Given the description of an element on the screen output the (x, y) to click on. 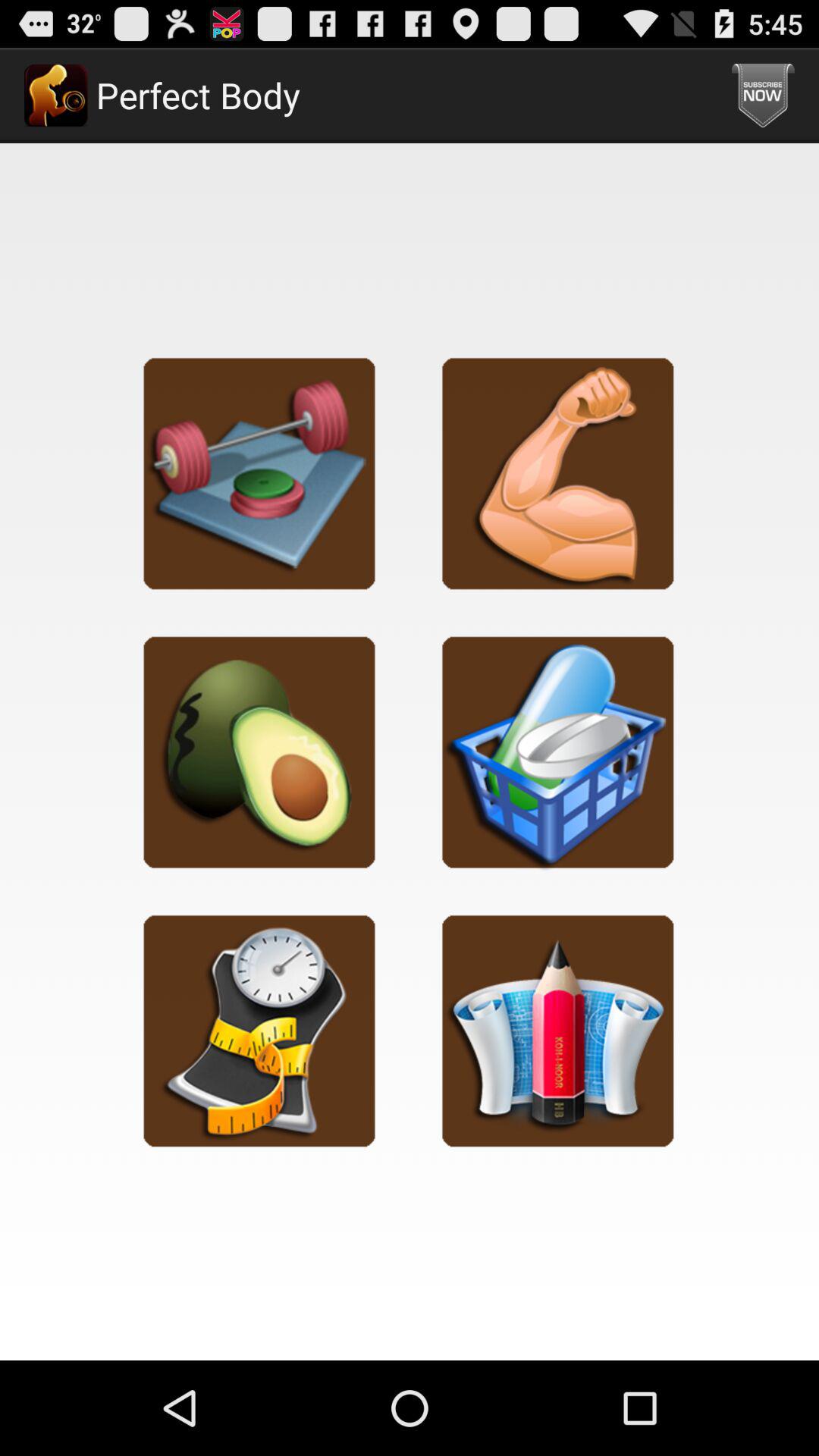
nutrition (259, 751)
